Given the description of an element on the screen output the (x, y) to click on. 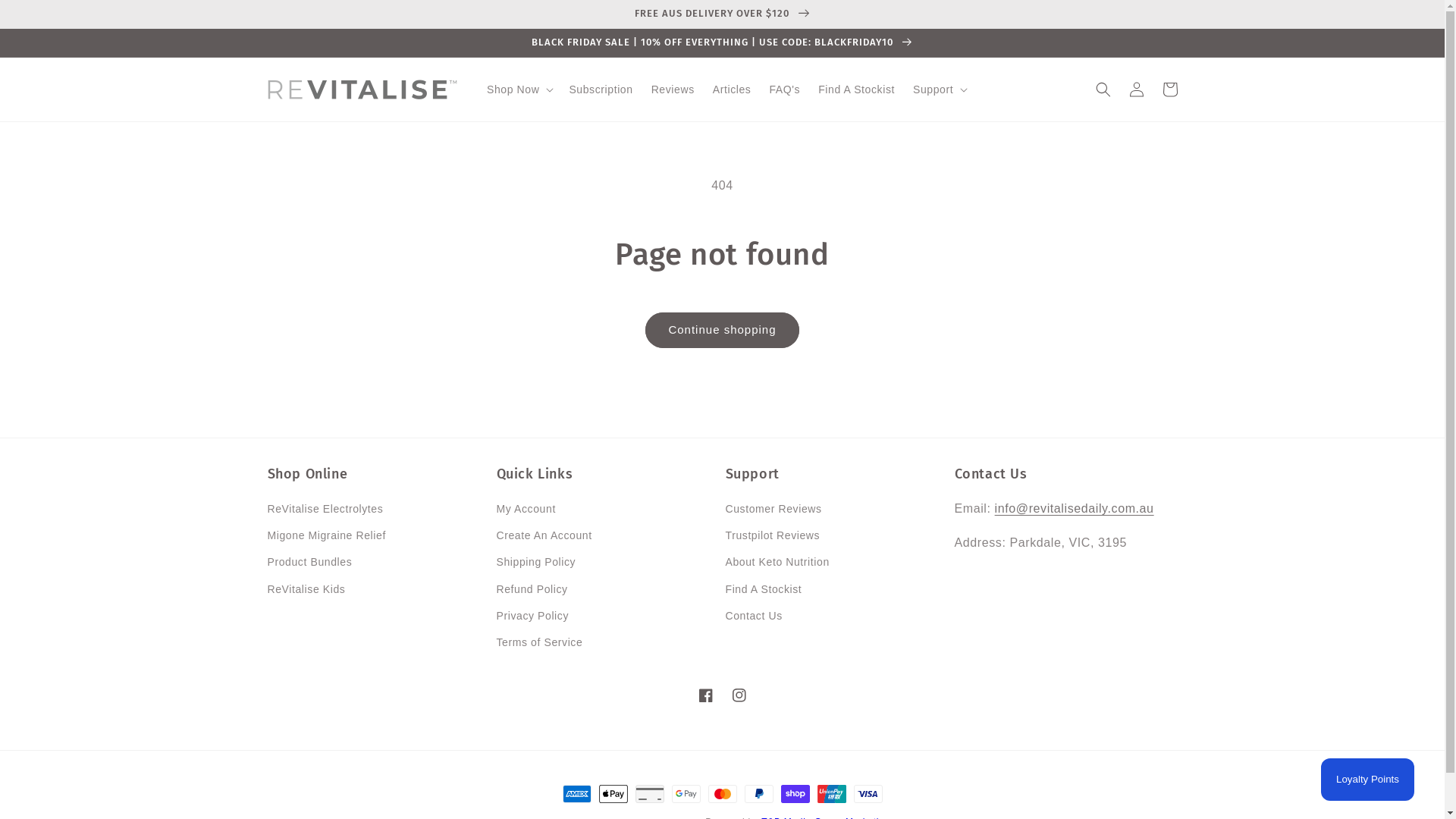
Create An Account Element type: text (543, 535)
Terms of Service Element type: text (538, 642)
info@revitalisedaily.com.au Element type: text (1074, 508)
About Keto Nutrition Element type: text (776, 562)
Reviews Element type: text (672, 89)
Articles Element type: text (731, 89)
Shipping Policy Element type: text (535, 562)
My Account Element type: text (525, 510)
Find A Stockist Element type: text (762, 589)
Privacy Policy Element type: text (531, 615)
ReVitalise Kids Element type: text (305, 589)
Continue shopping Element type: text (721, 330)
Facebook Element type: text (704, 695)
Migone Migraine Relief Element type: text (325, 535)
FAQ's Element type: text (784, 89)
Find A Stockist Element type: text (856, 89)
Cart Element type: text (1169, 89)
Loyalty Points Element type: text (1367, 779)
Subscription Element type: text (600, 89)
Instagram Element type: text (738, 695)
Refund Policy Element type: text (531, 589)
ReVitalise Electrolytes Element type: text (324, 510)
Log in Element type: text (1135, 89)
Contact Us Element type: text (752, 615)
Product Bundles Element type: text (308, 562)
Customer Reviews Element type: text (772, 510)
Trustpilot Reviews Element type: text (771, 535)
FREE AUS DELIVERY OVER $120 Element type: text (722, 14)
